Given the description of an element on the screen output the (x, y) to click on. 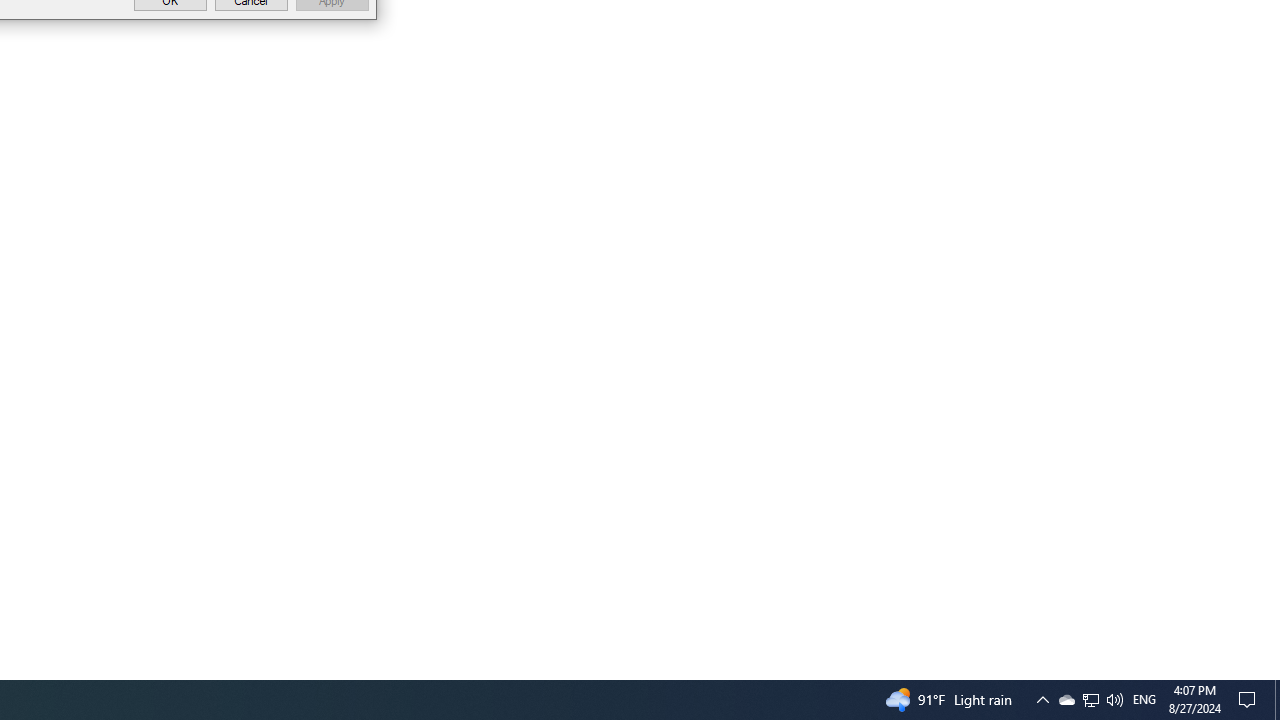
Tray Input Indicator - English (United States) (1144, 699)
Action Center, No new notifications (1250, 699)
User Promoted Notification Area (1066, 699)
Show desktop (1090, 699)
Notification Chevron (1091, 699)
Q2790: 100% (1277, 699)
